Given the description of an element on the screen output the (x, y) to click on. 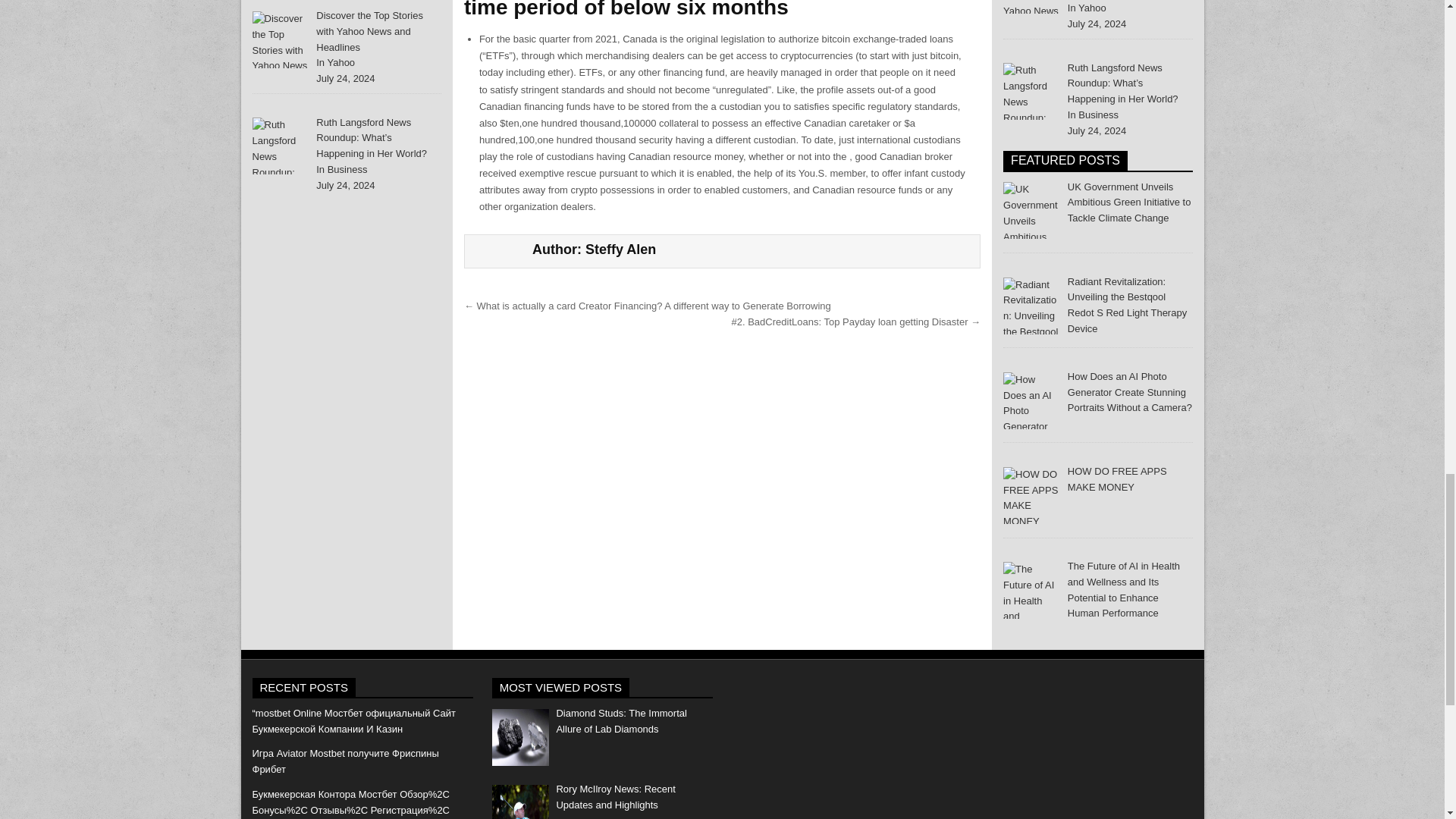
Discover the Top Stories with Yahoo News and Headlines (369, 31)
